Given the description of an element on the screen output the (x, y) to click on. 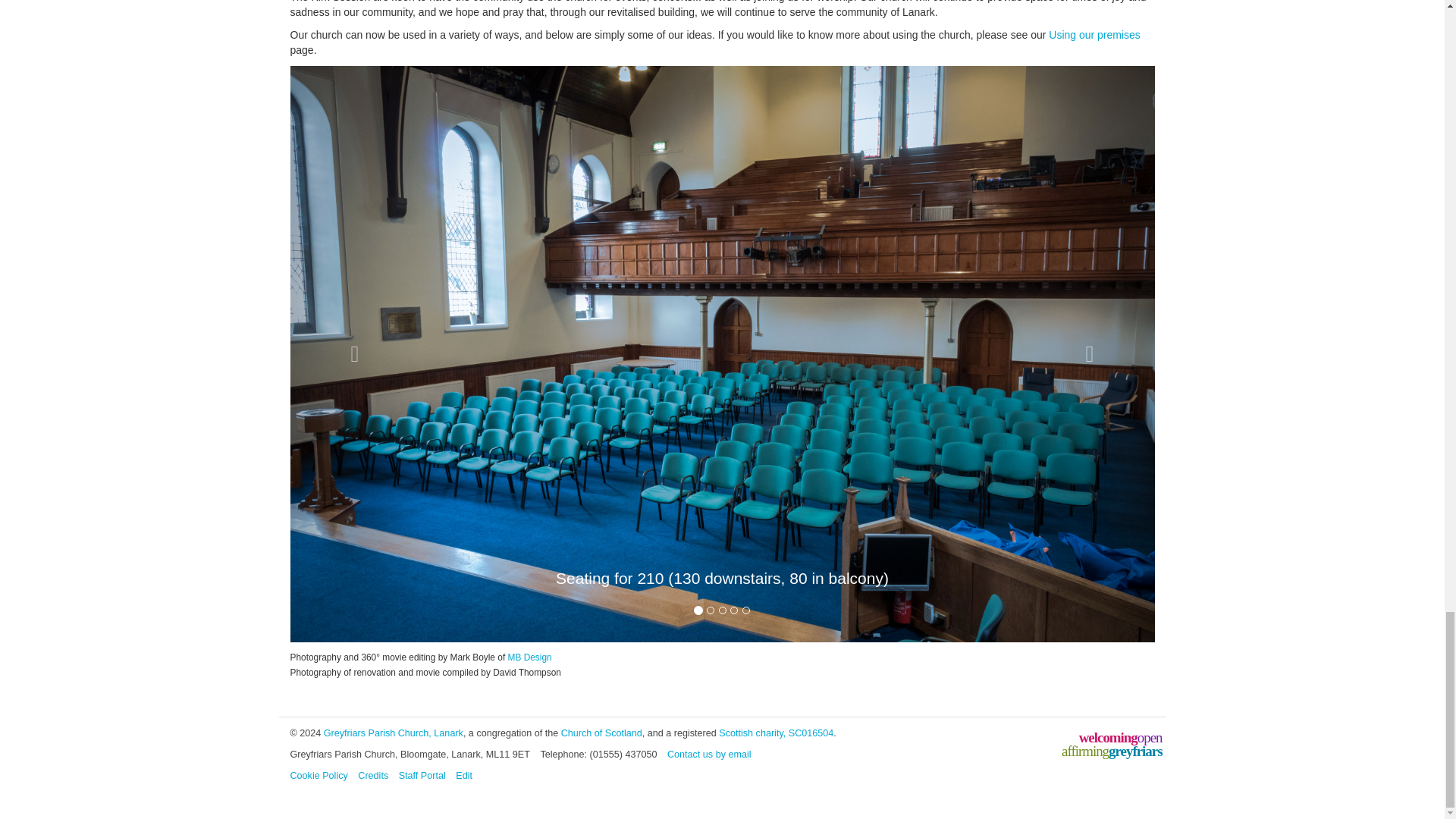
Staff Portal (421, 775)
Using our premises (1094, 34)
Edit (463, 775)
Next (1089, 354)
Church of Scotland (601, 733)
Credits (373, 775)
Cookie Policy (318, 775)
MB Design (529, 656)
Previous (354, 354)
Greyfriars Parish Church, Lanark (393, 733)
Contact us by email (708, 754)
Scottish charity, SC016504 (775, 733)
